Given the description of an element on the screen output the (x, y) to click on. 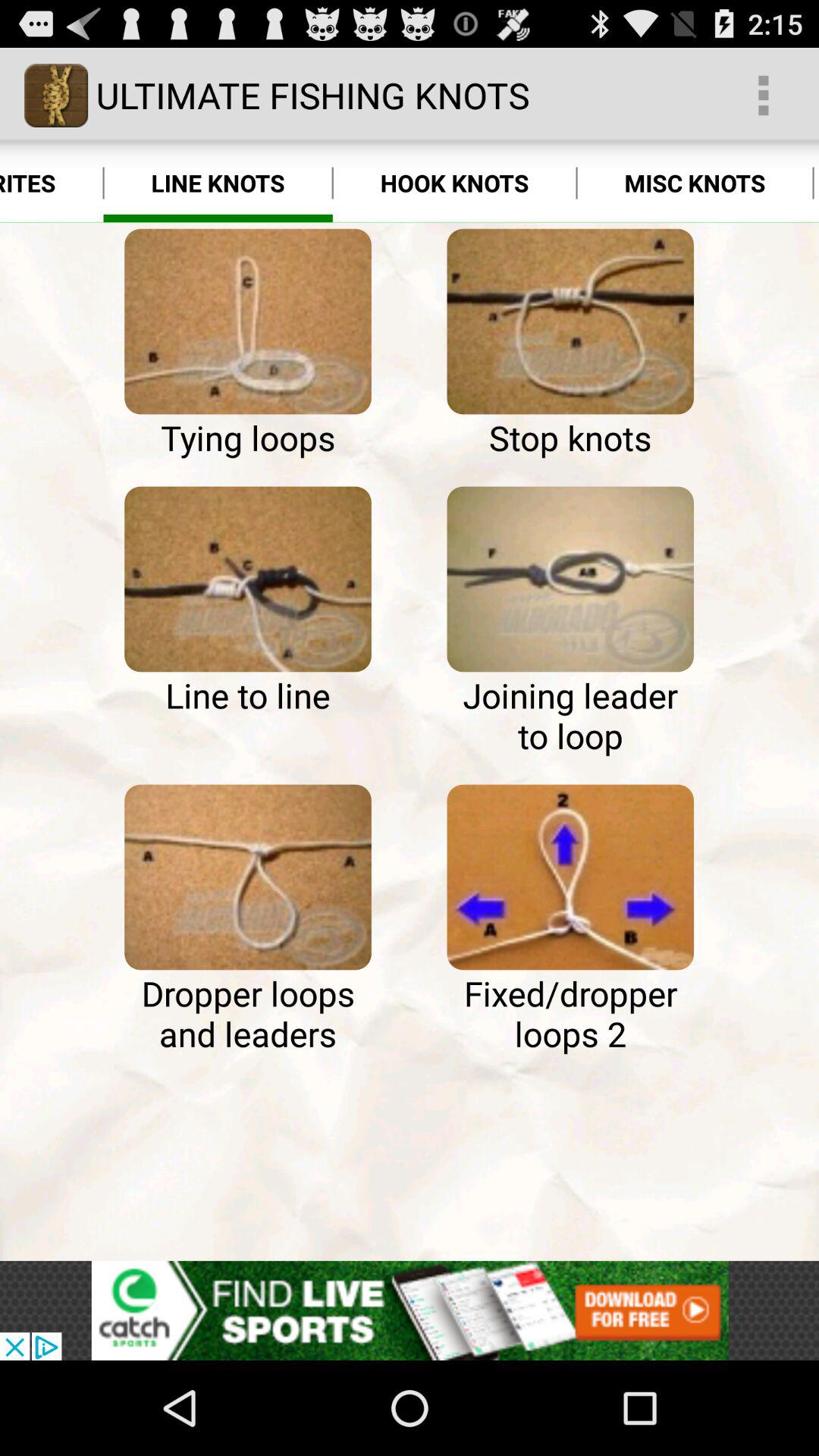
see (247, 578)
